Given the description of an element on the screen output the (x, y) to click on. 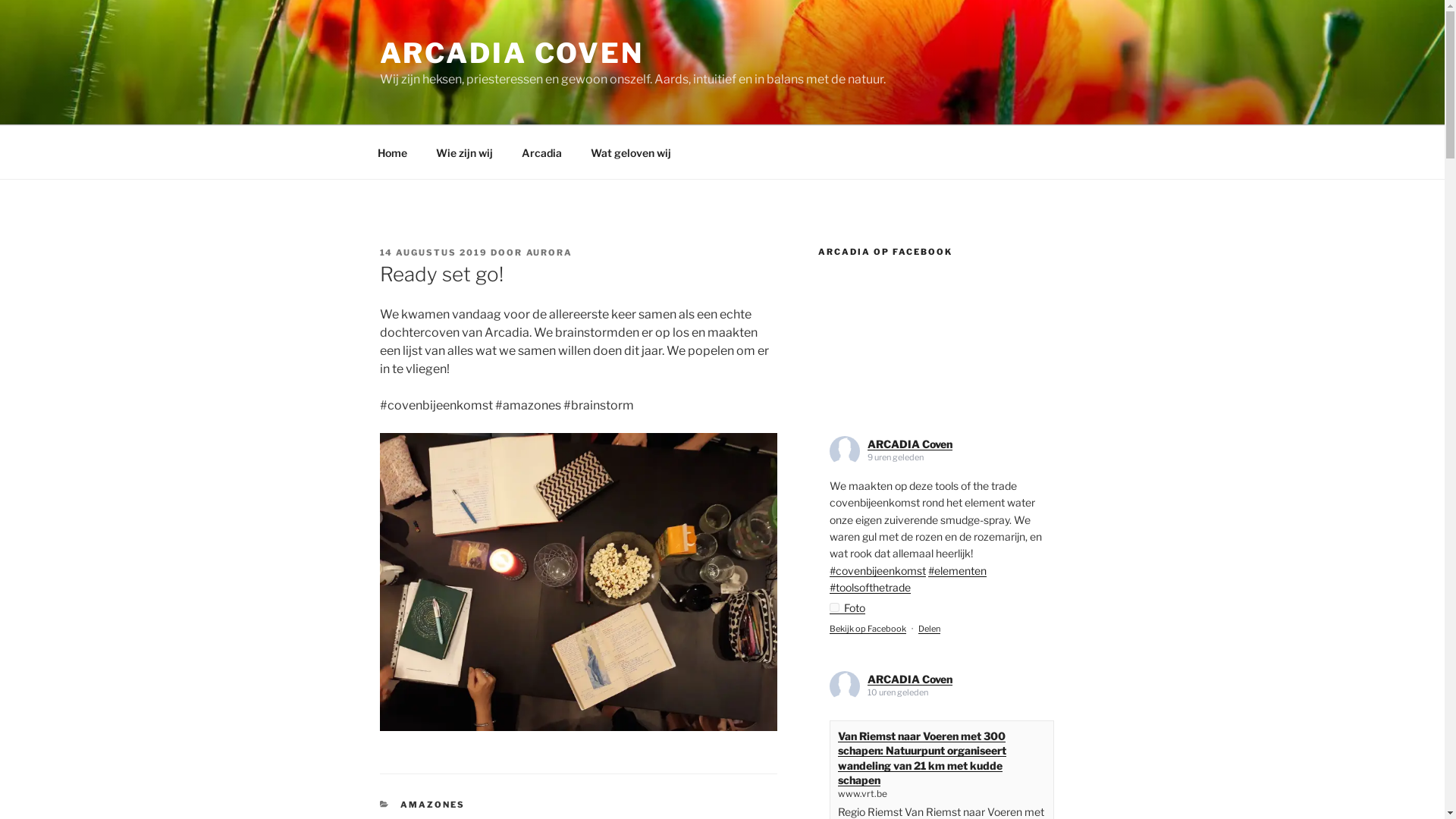
Arcadia Element type: text (541, 151)
ARCADIA COVEN Element type: text (511, 52)
14 AUGUSTUS 2019 Element type: text (433, 252)
AMAZONES Element type: text (432, 804)
#elementen Element type: text (957, 570)
Wie zijn wij Element type: text (464, 151)
ARCADIA Coven Element type: text (909, 678)
Delen Element type: text (929, 628)
Bekijk op Facebook Element type: text (867, 628)
Wat geloven wij Element type: text (630, 151)
AURORA Element type: text (549, 252)
#toolsofthetrade Element type: text (869, 586)
#covenbijeenkomst Element type: text (877, 570)
Home Element type: text (392, 151)
ARCADIA Coven Element type: text (909, 443)
Foto Element type: text (847, 607)
